Given the description of an element on the screen output the (x, y) to click on. 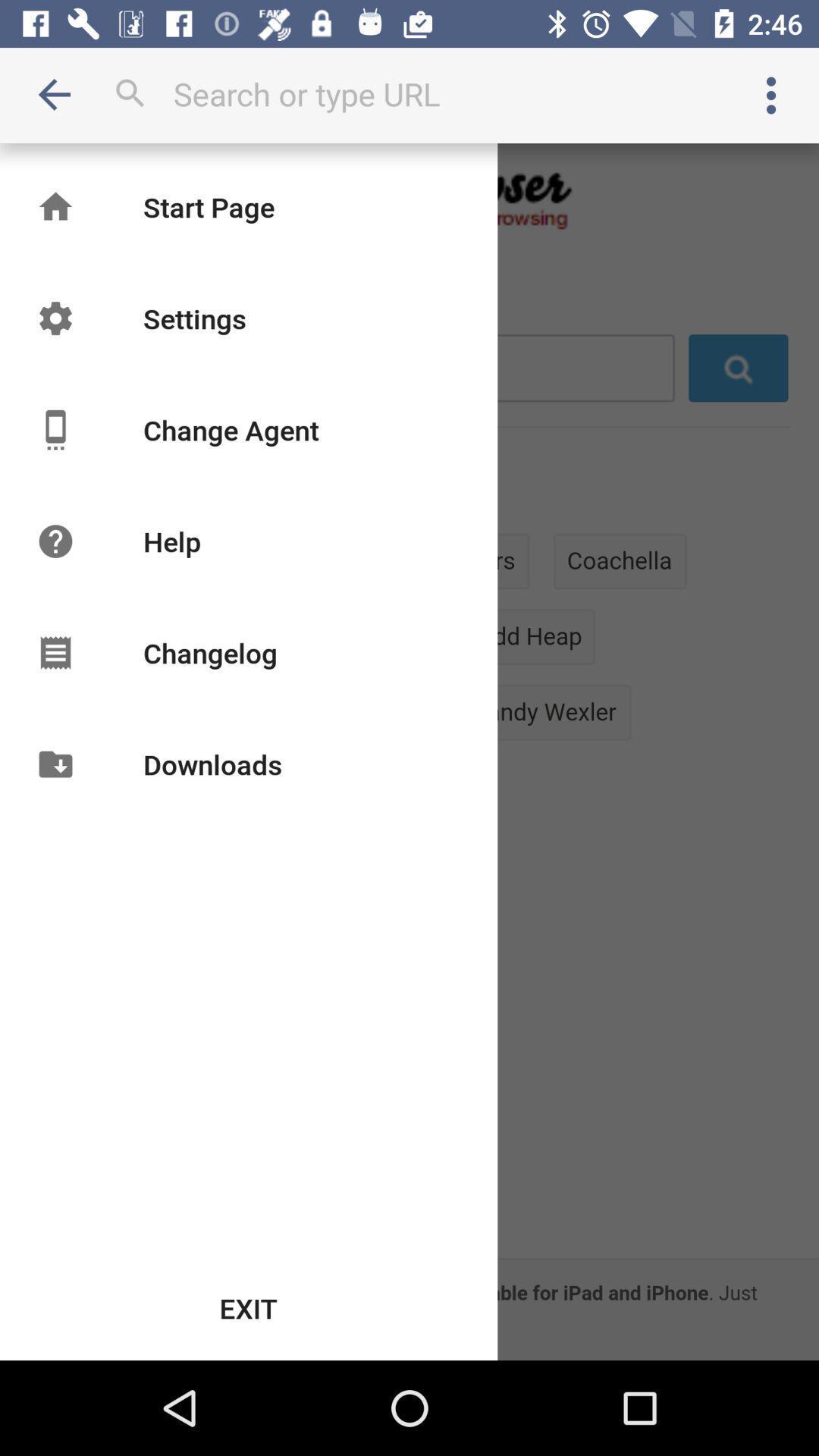
turn off icon below change agent item (172, 541)
